Given the description of an element on the screen output the (x, y) to click on. 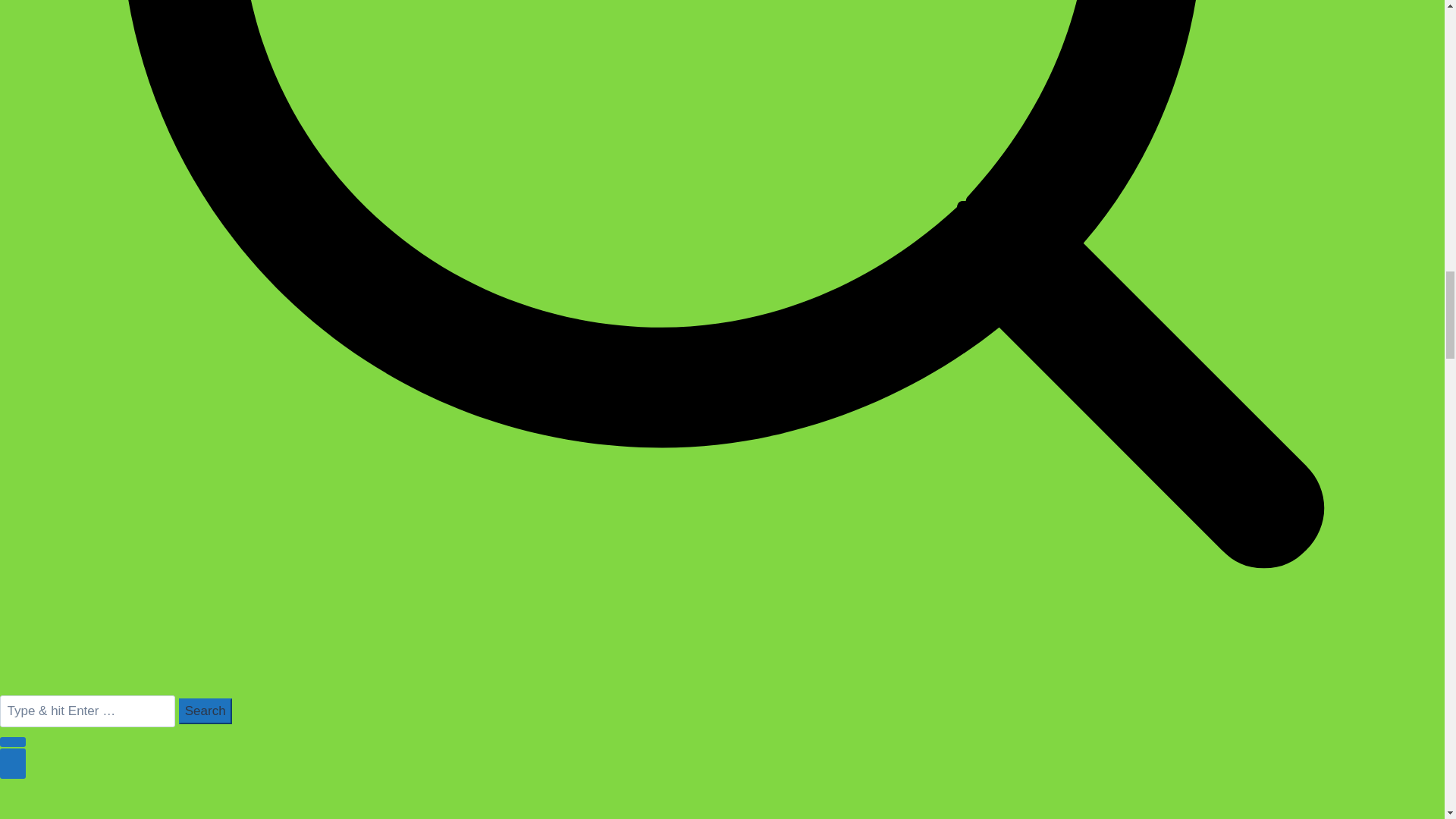
Search (205, 710)
Search (205, 710)
Search for: (87, 711)
Search (205, 710)
